Given the description of an element on the screen output the (x, y) to click on. 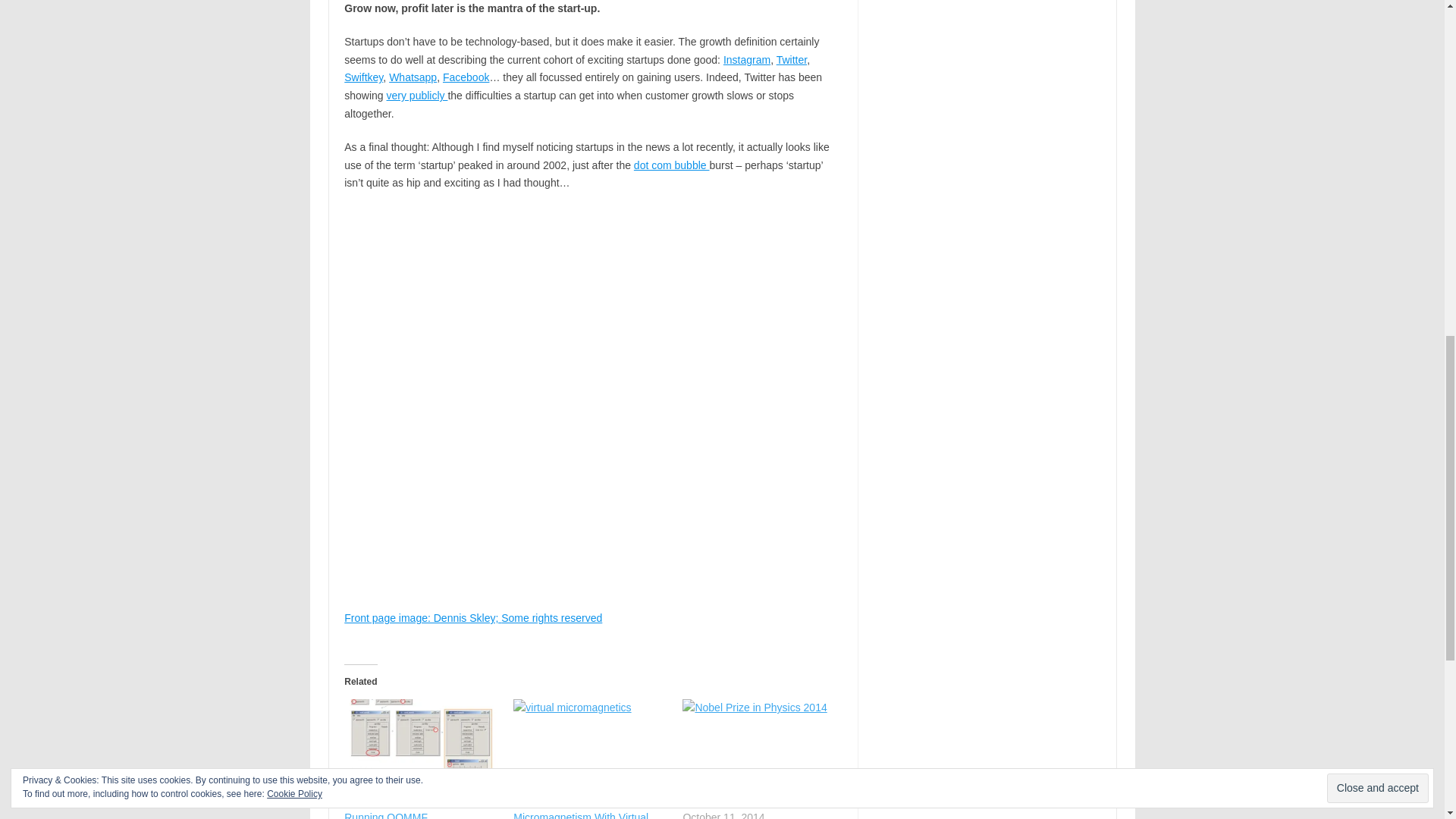
Instagram (746, 60)
very publicly (417, 95)
Go to Dennis Skley's photostream (421, 617)
Facebook (465, 77)
Some rights reserved (551, 617)
Swiftkey (362, 77)
dot com bubble (671, 164)
Advertisement (592, 730)
Front page image: Dennis Skley; (421, 617)
Twitter (791, 60)
